Given the description of an element on the screen output the (x, y) to click on. 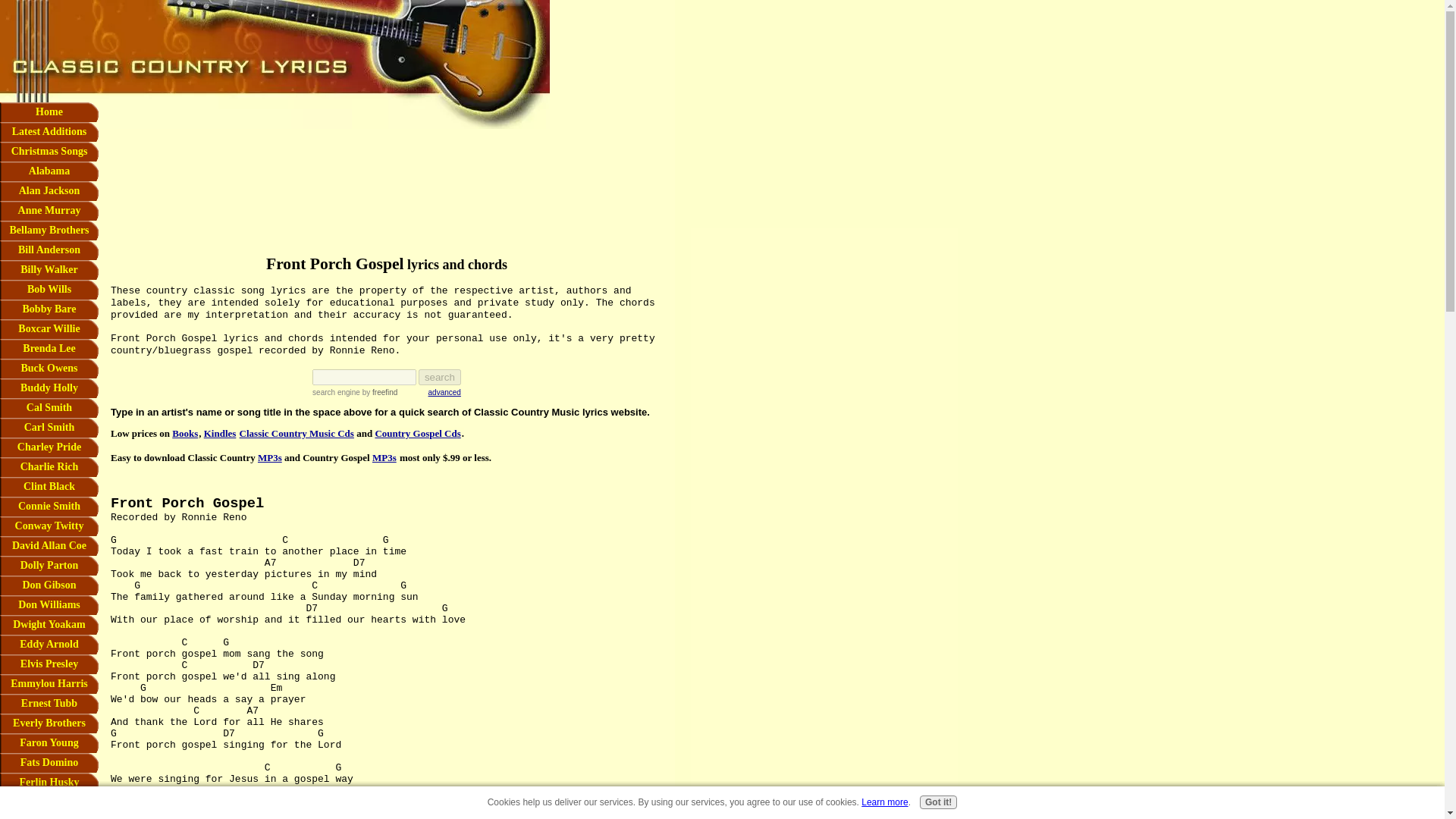
Buddy Holly (49, 388)
Bill Anderson (49, 250)
Fats Domino (49, 762)
Elvis Presley (49, 664)
Home (49, 112)
David Allan Coe (49, 546)
Ernest Tubb (49, 703)
Bobby Bare (49, 309)
Garth Brooks (49, 802)
Ferlin Husky (49, 782)
Don Gibson (49, 585)
Charlie Rich (49, 466)
Alabama (49, 170)
Brenda Lee (49, 348)
Gene Watson (49, 815)
